Given the description of an element on the screen output the (x, y) to click on. 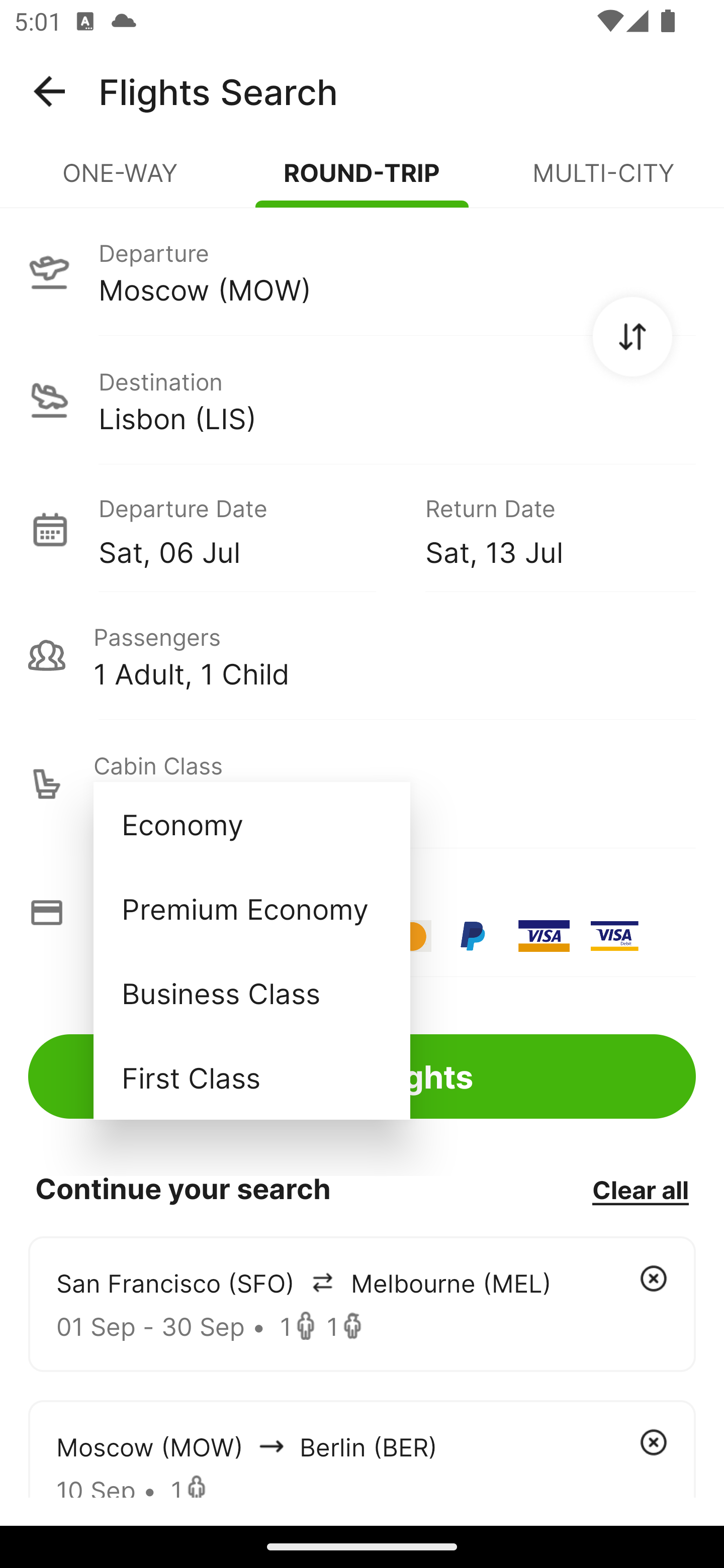
Economy (251, 824)
Premium Economy (251, 908)
Business Class (251, 992)
First Class (251, 1076)
